Given the description of an element on the screen output the (x, y) to click on. 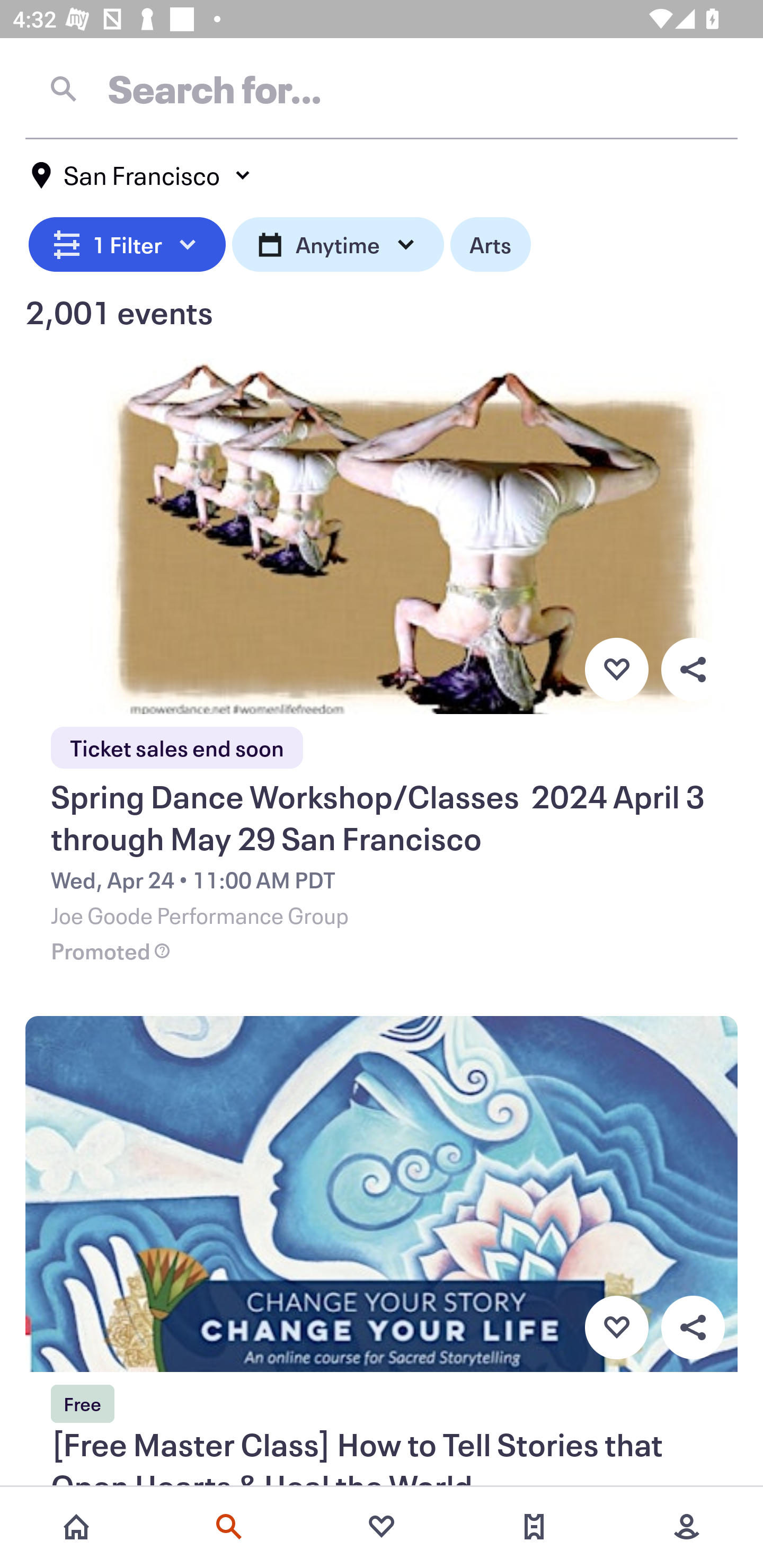
Search for… (381, 88)
San Francisco (141, 175)
1 Filter (126, 241)
Anytime (337, 241)
Arts (490, 241)
Favorite button (616, 669)
Overflow menu button (692, 669)
Favorite button (616, 1326)
Overflow menu button (692, 1326)
Home (76, 1526)
Search events (228, 1526)
Favorites (381, 1526)
Tickets (533, 1526)
More (686, 1526)
